Given the description of an element on the screen output the (x, y) to click on. 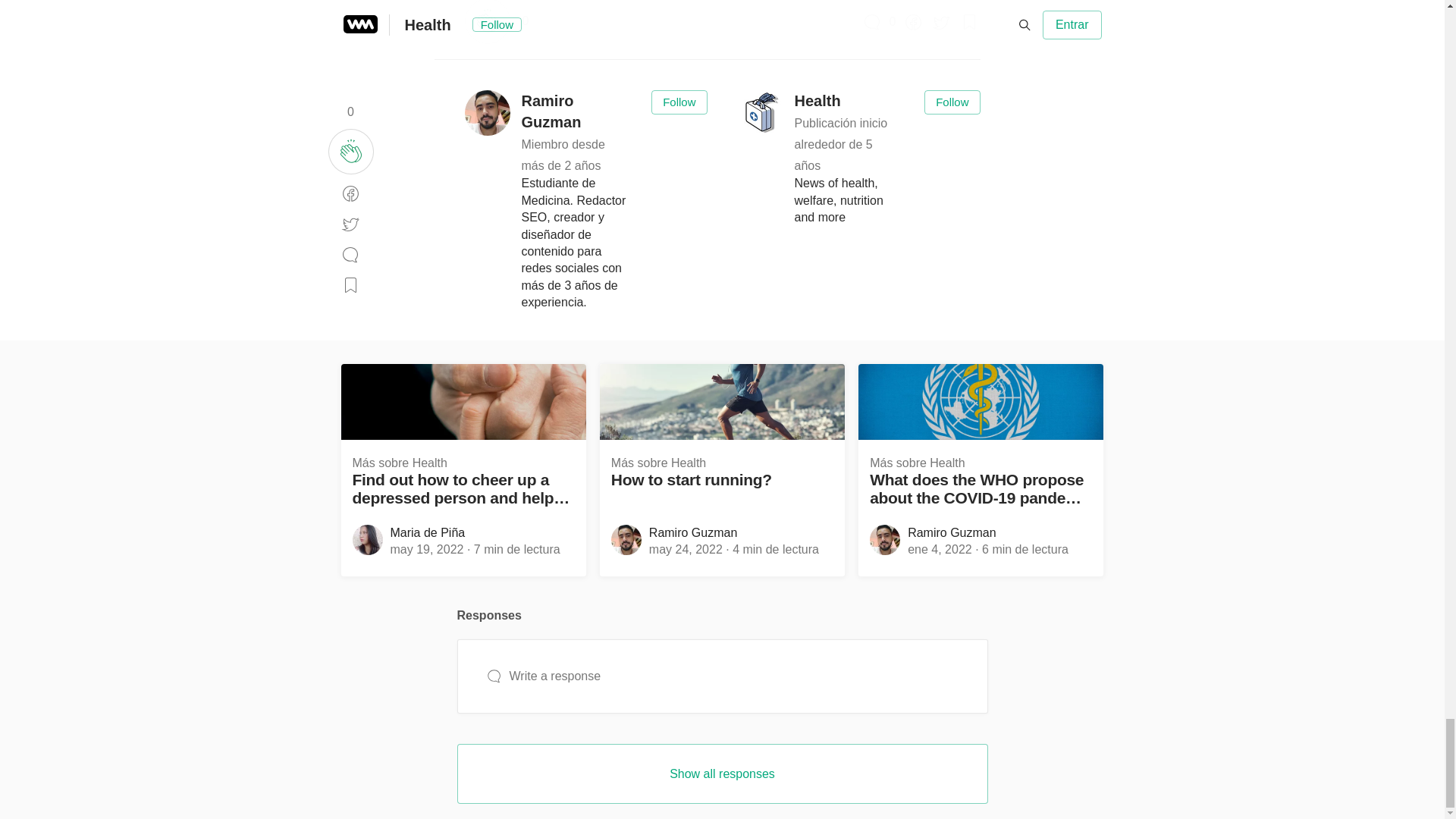
How to start running? (721, 479)
Health (848, 110)
Follow (678, 102)
Ramiro Guzman (574, 120)
0 (524, 21)
0 (892, 21)
may 19, 2022 (426, 549)
Follow (951, 102)
